Given the description of an element on the screen output the (x, y) to click on. 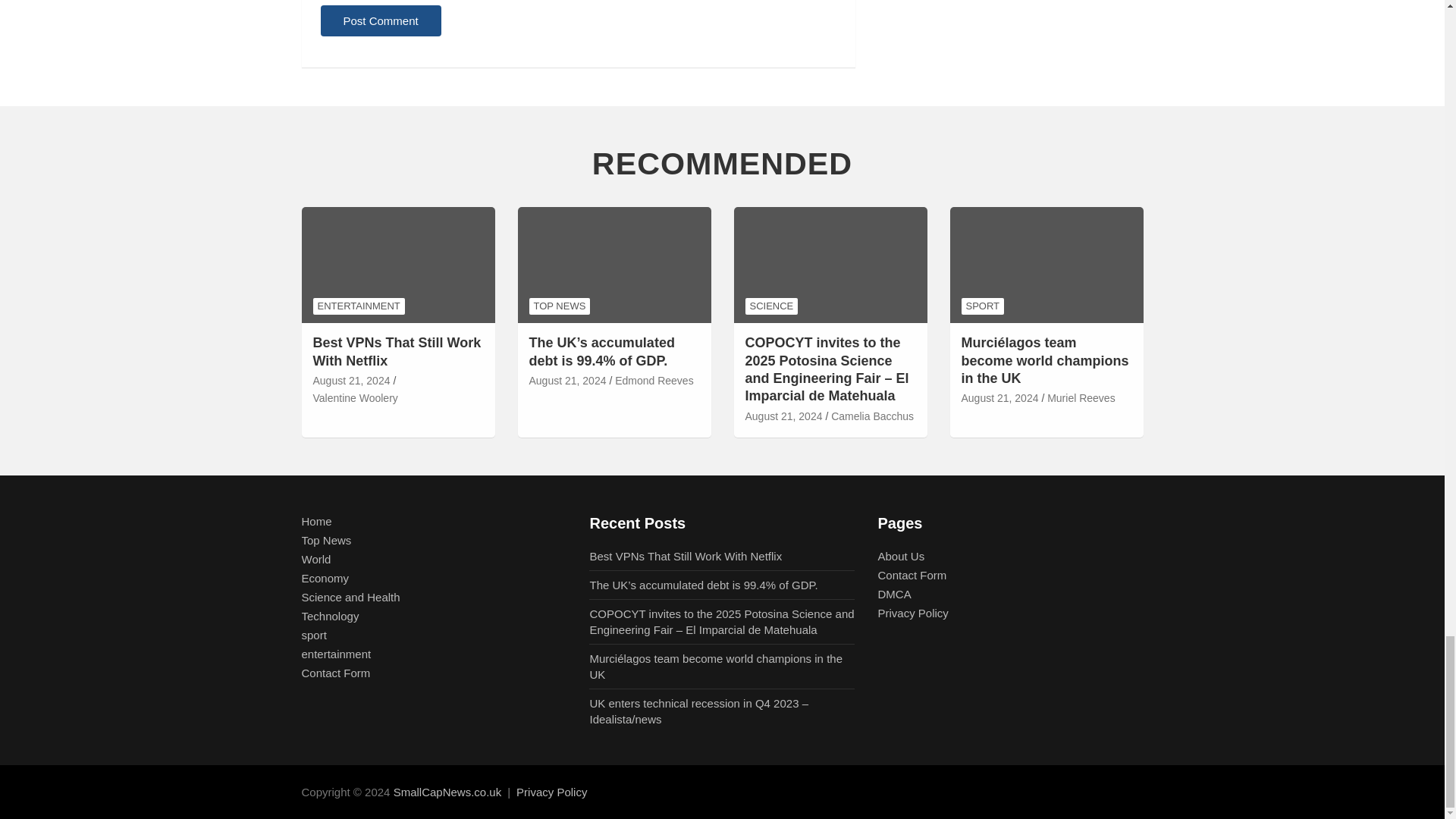
Best VPNs That Still Work With Netflix (351, 381)
Post Comment (380, 20)
SmallCapNews.co.uk (447, 791)
Post Comment (380, 20)
